Given the description of an element on the screen output the (x, y) to click on. 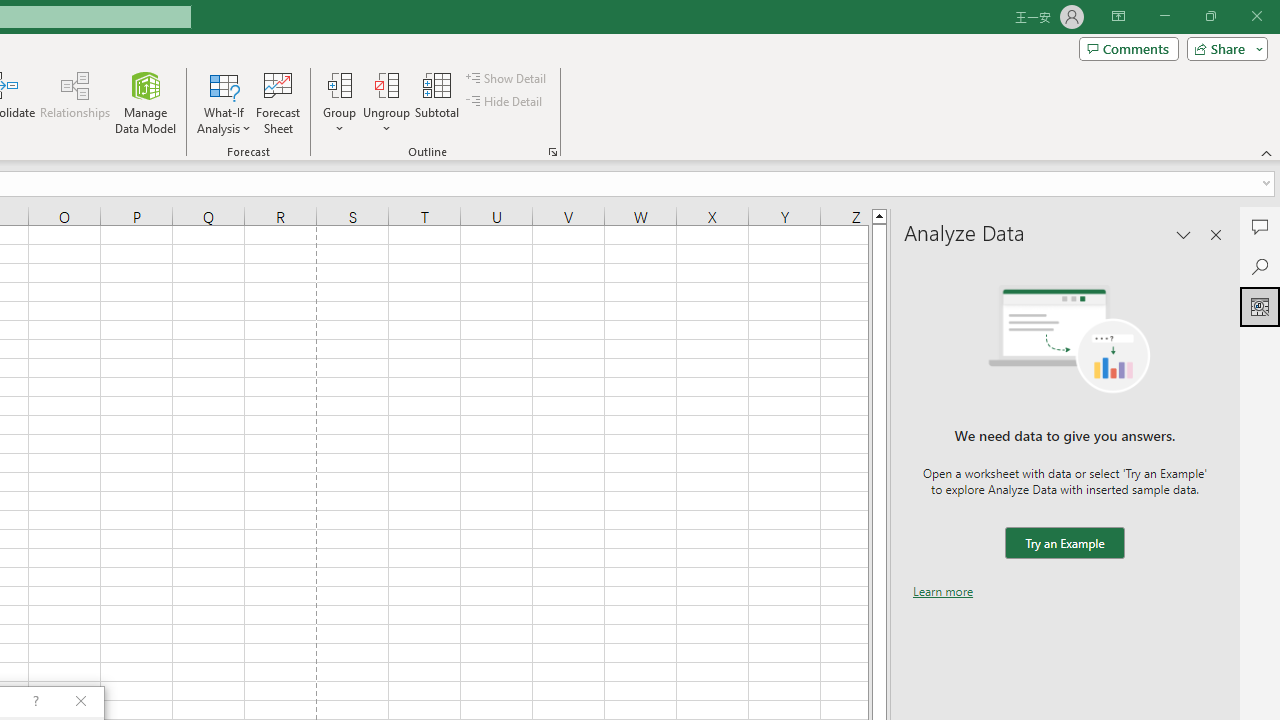
Subtotal (437, 102)
Show Detail (507, 78)
We need data to give you answers. Try an Example (1064, 543)
Forecast Sheet (278, 102)
Manage Data Model (145, 102)
Search (1260, 266)
Hide Detail (505, 101)
